Given the description of an element on the screen output the (x, y) to click on. 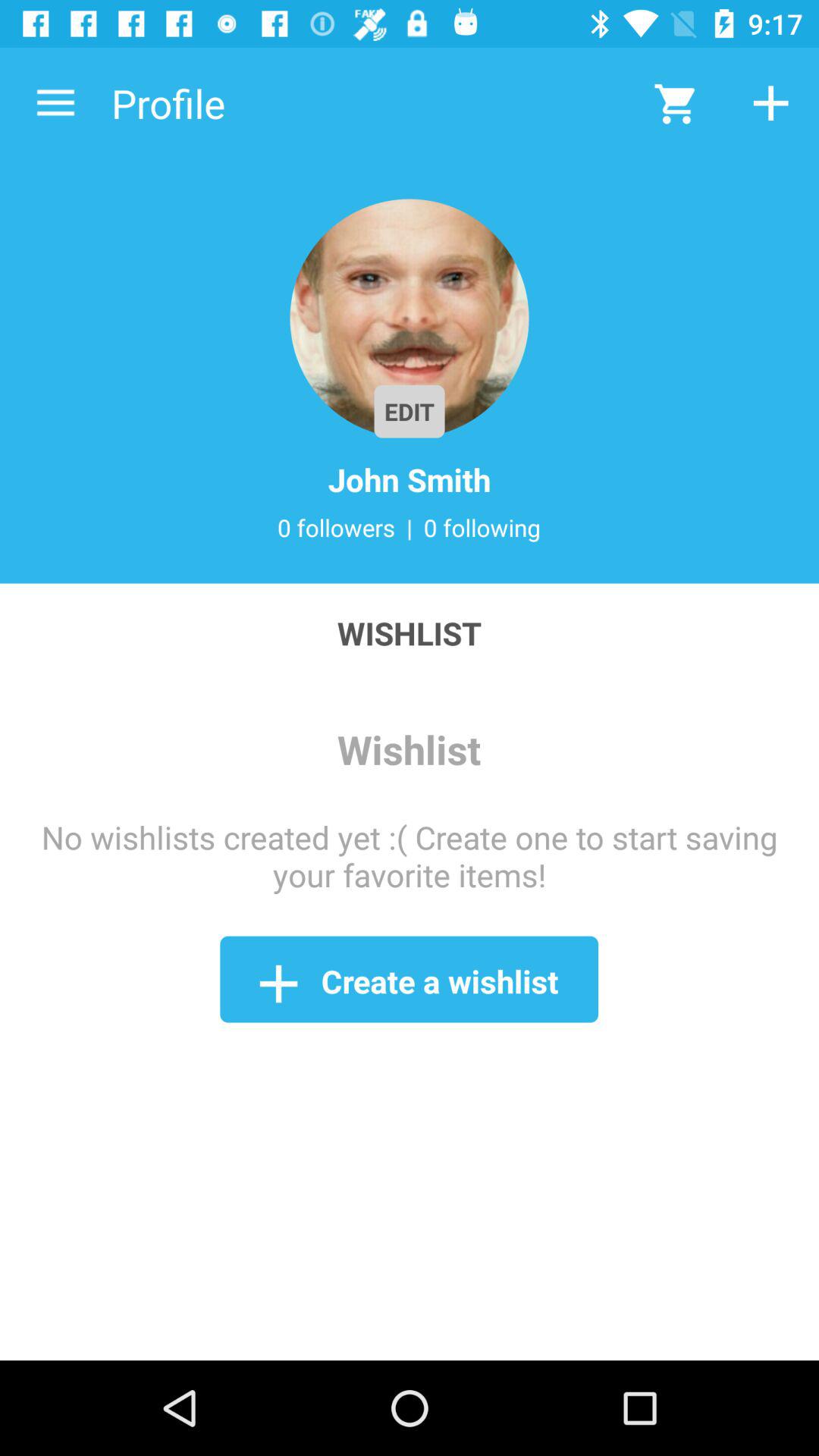
launch the item next to the   |   item (336, 527)
